Given the description of an element on the screen output the (x, y) to click on. 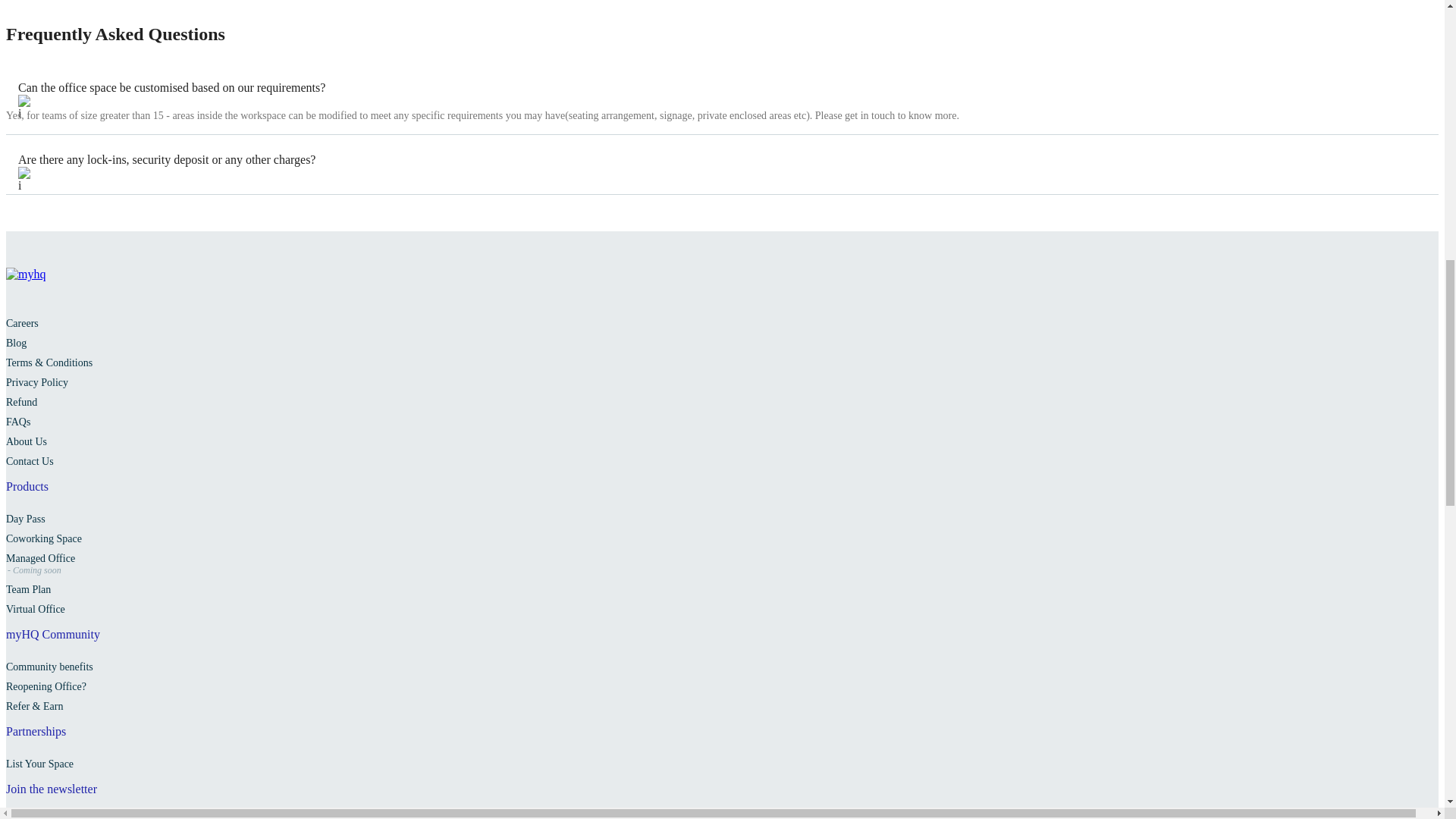
Team Plan (27, 589)
List Your Space (39, 763)
FAQs (17, 421)
Coworking Space (43, 538)
Refund (21, 401)
Managed Office (40, 558)
Community benefits (49, 666)
Day Pass (25, 518)
Reopening Office? (45, 686)
Careers (22, 323)
Contact Us (29, 460)
Privacy Policy (36, 382)
Blog (15, 342)
Virtual Office (35, 609)
About Us (25, 441)
